Given the description of an element on the screen output the (x, y) to click on. 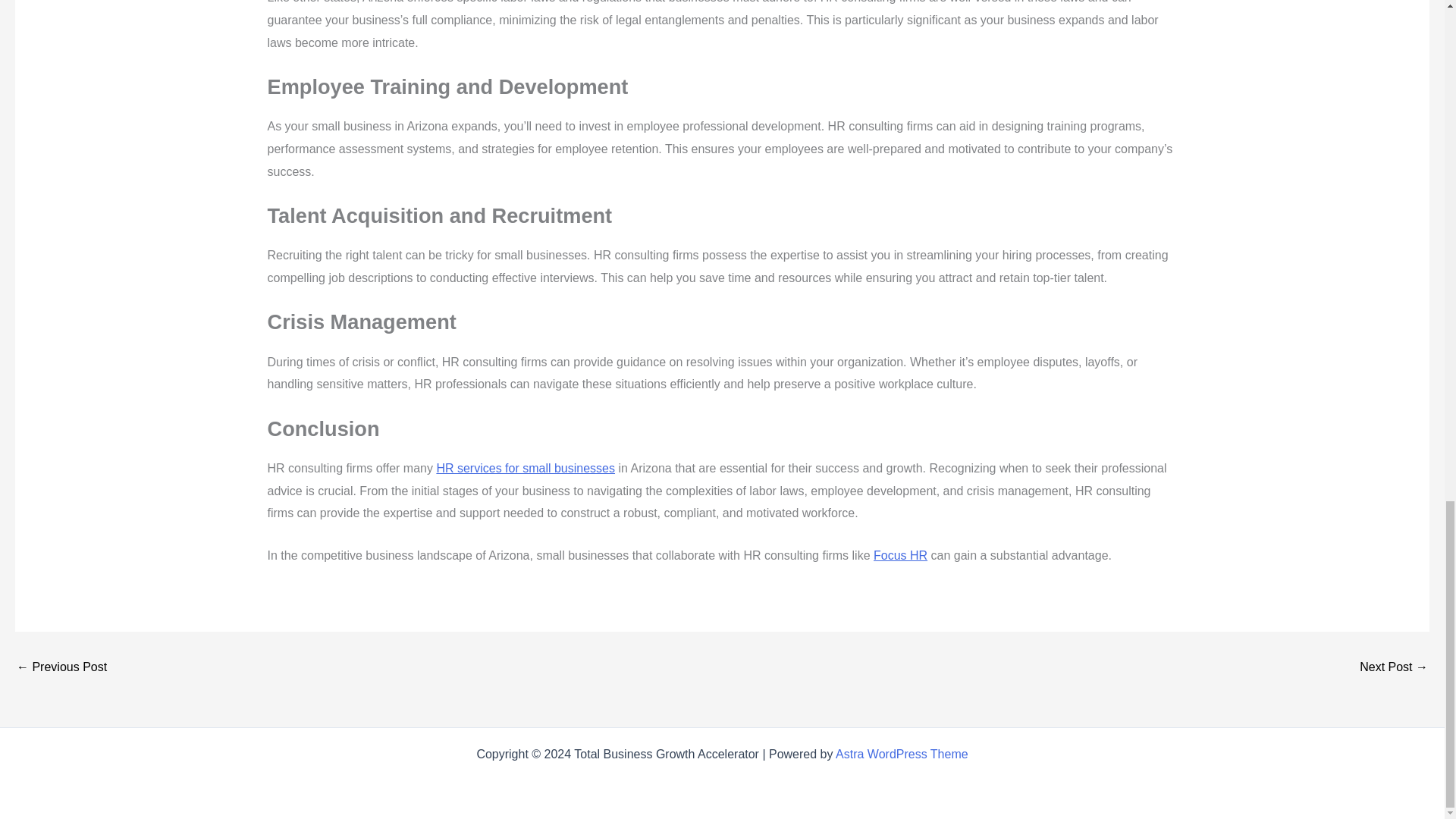
Focus HR (900, 554)
HR services for small businesses (524, 468)
Astra WordPress Theme (901, 753)
What is UV Printing and Its Benefits (61, 666)
